Given the description of an element on the screen output the (x, y) to click on. 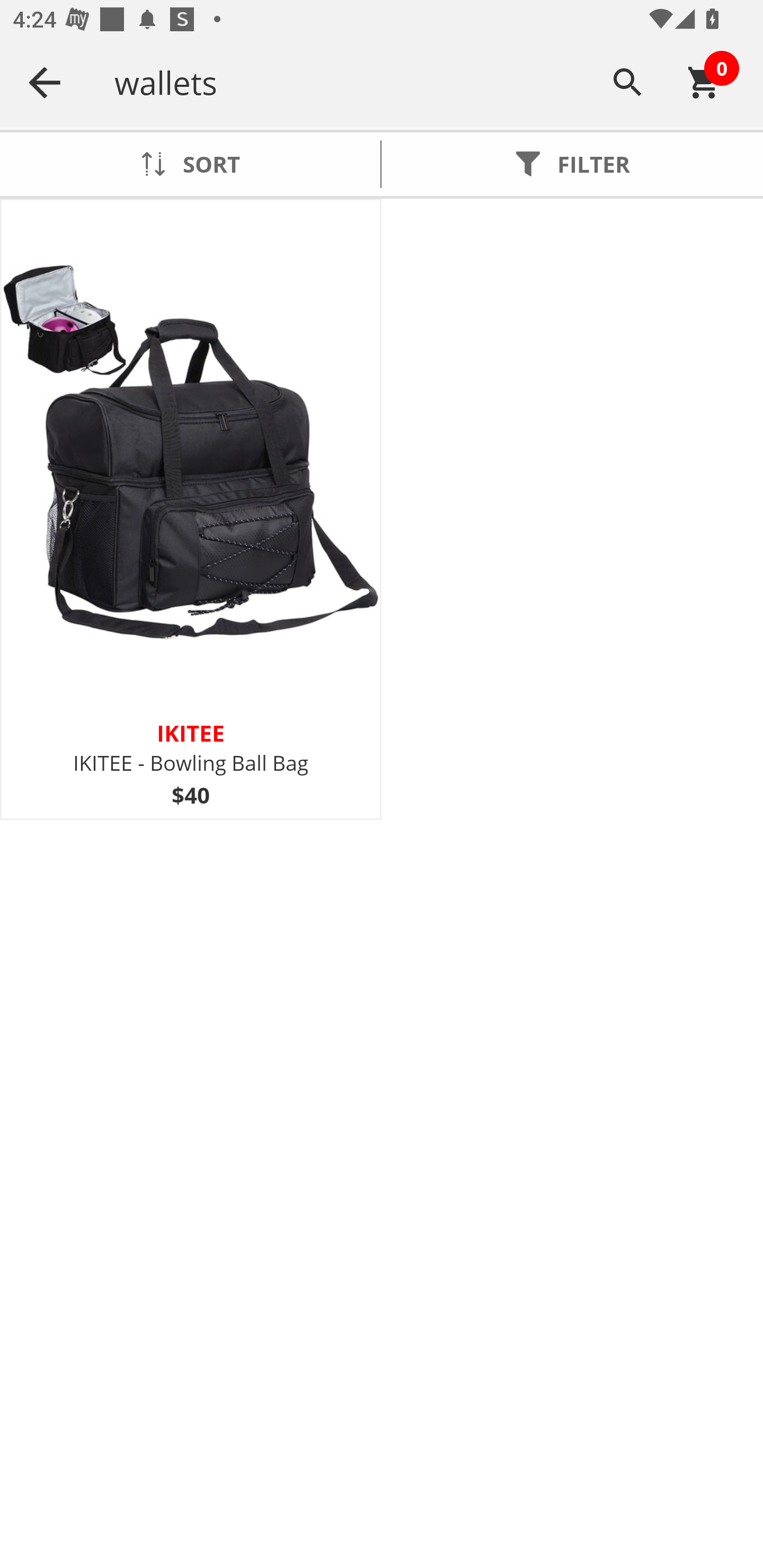
Navigate up (44, 82)
SORT (190, 163)
FILTER (572, 163)
IKITEE IKITEE - Bowling Ball Bag $40 (190, 509)
